Given the description of an element on the screen output the (x, y) to click on. 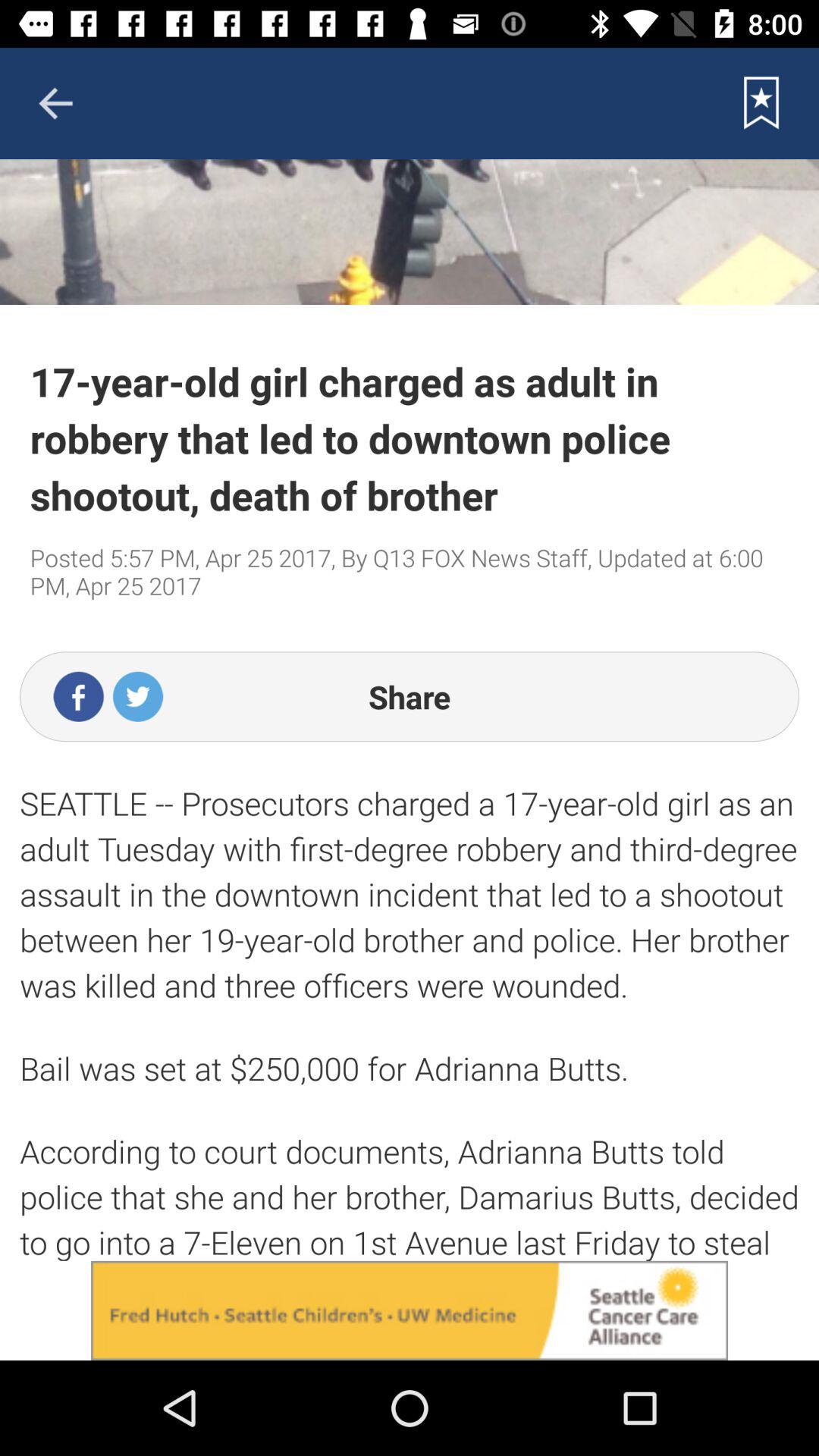
for back (55, 103)
